Given the description of an element on the screen output the (x, y) to click on. 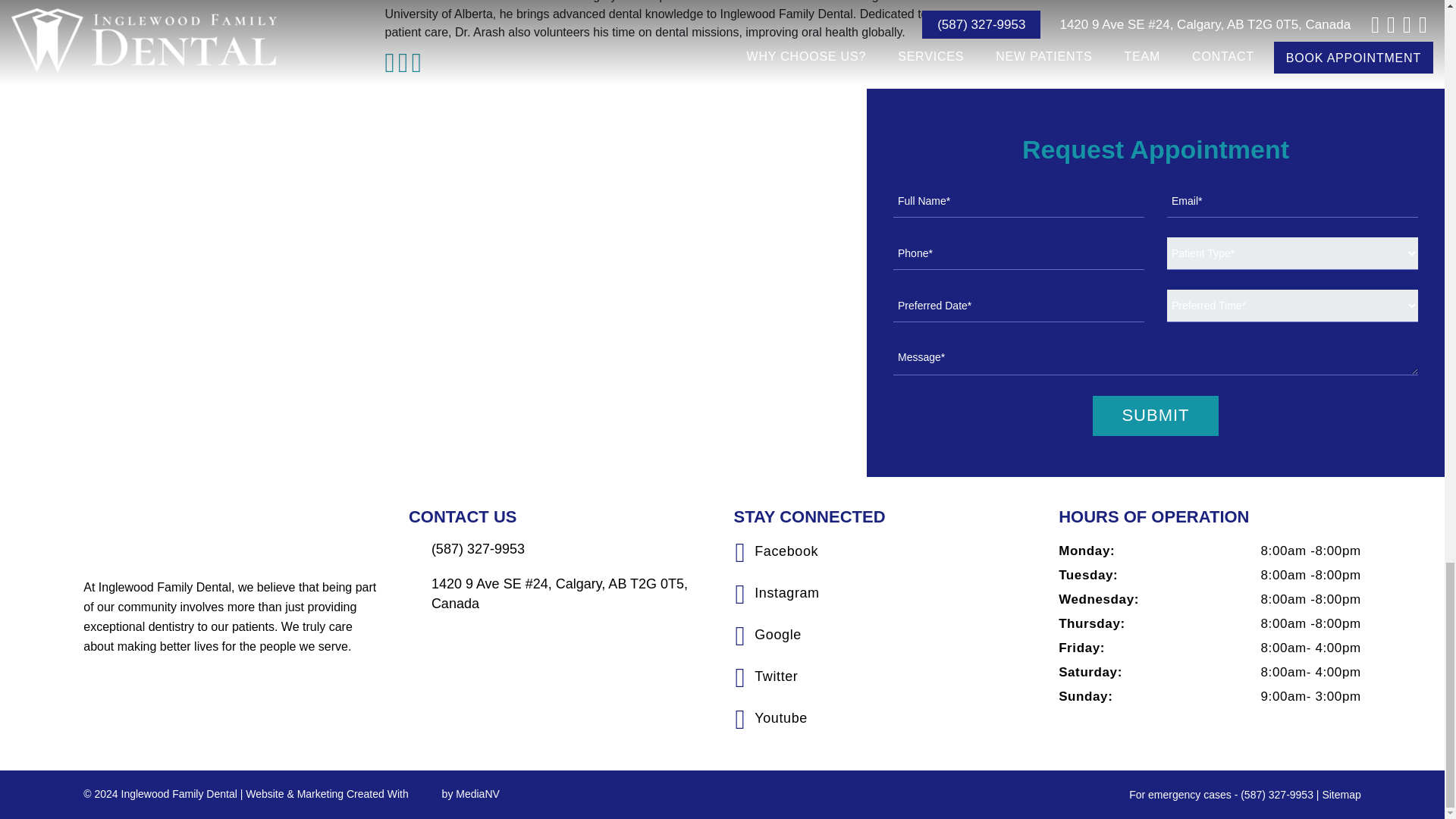
Submit (1155, 415)
